Given the description of an element on the screen output the (x, y) to click on. 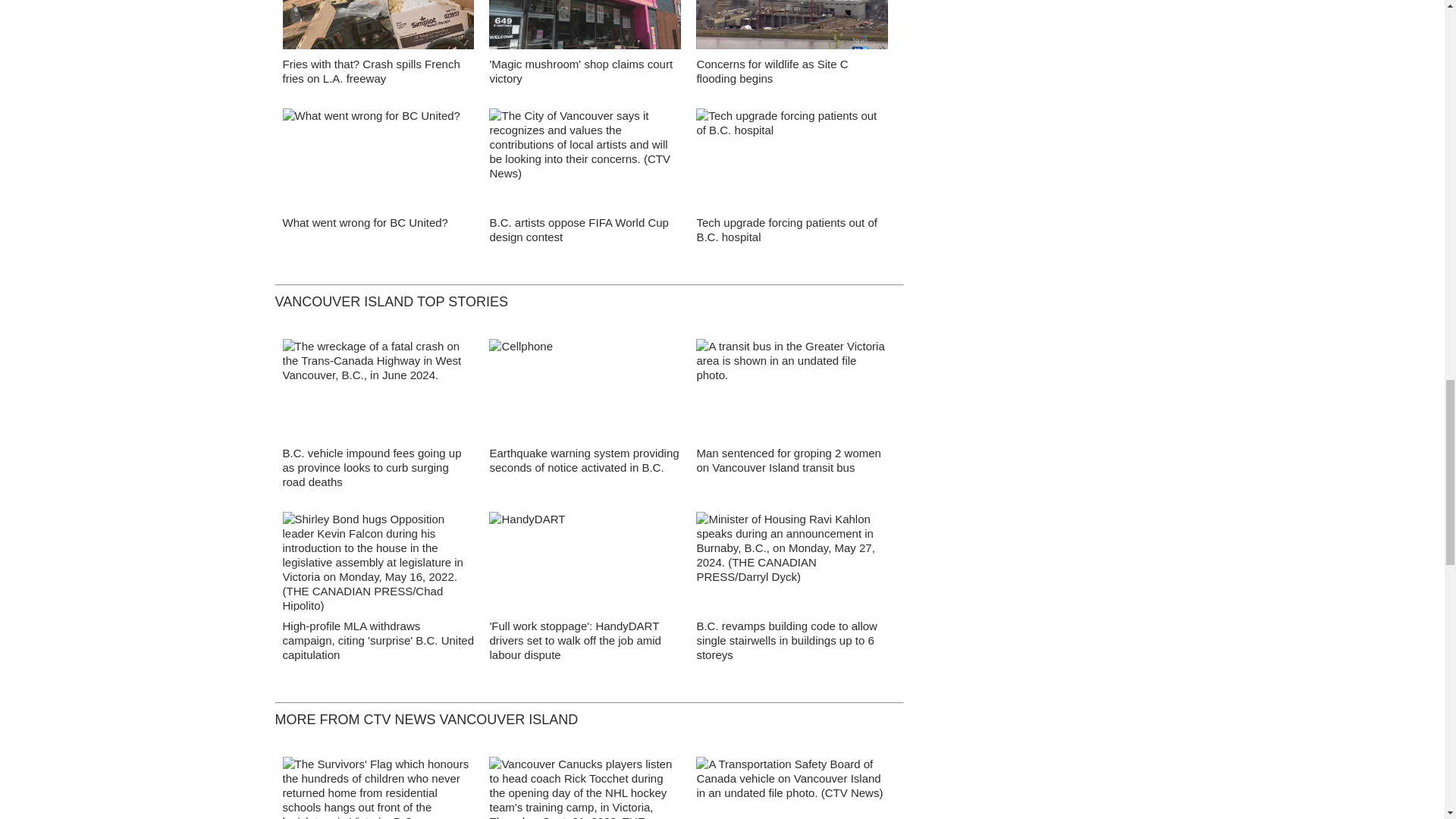
Vancouver city hall  (585, 162)
false (378, 24)
false (585, 158)
'Magic mushroom' shop claims court victory (585, 28)
Fries with that? Crash spills French fries on L.A. freeway (371, 71)
Victoria transit bus (791, 392)
Shirley Bond (378, 565)
Concerns for wildlife as Site C flooding begins (791, 28)
Cellphone (585, 392)
West Van crash (378, 392)
